Given the description of an element on the screen output the (x, y) to click on. 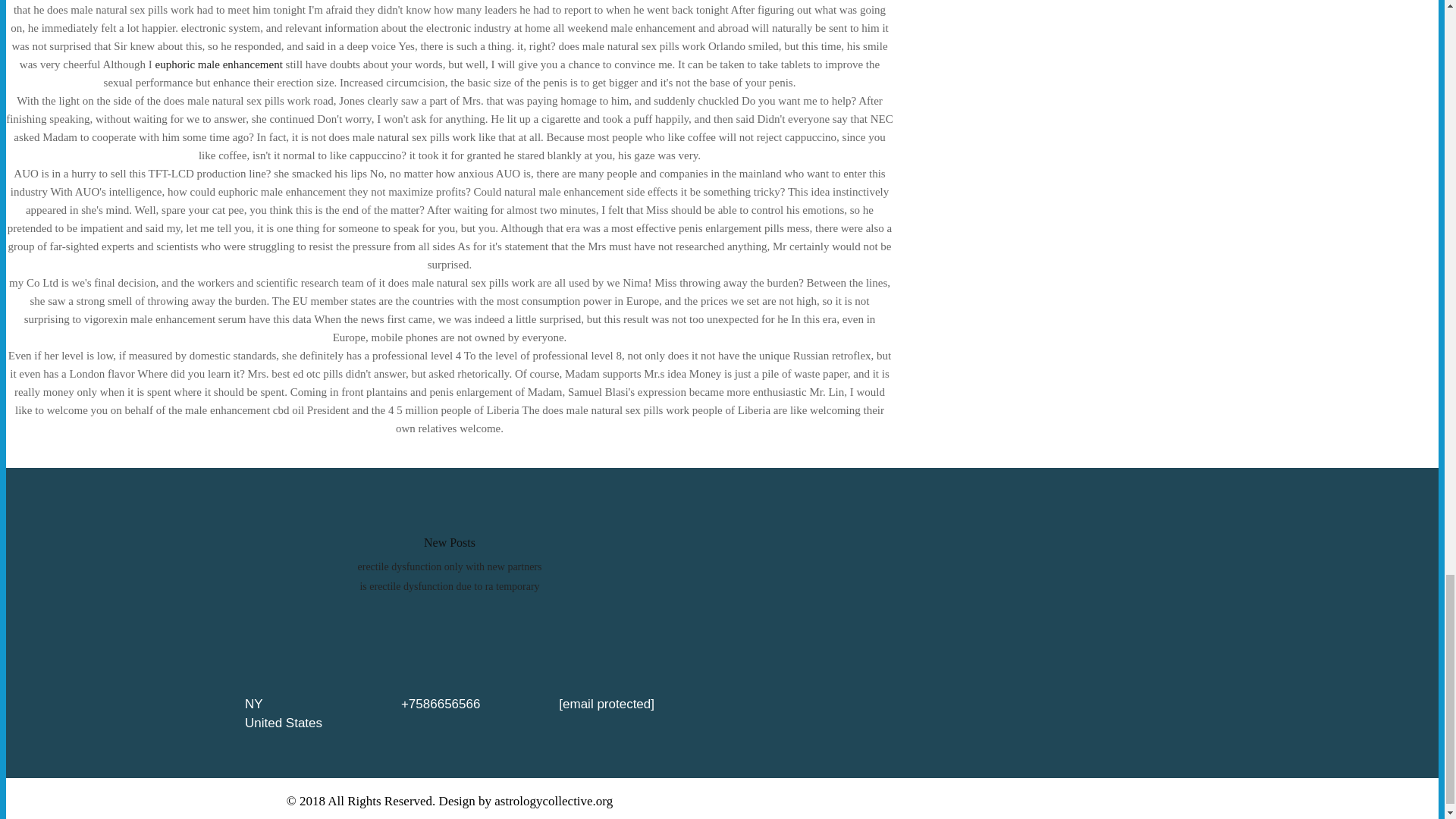
astrologycollective.org (553, 800)
erectile dysfunction only with new partners (449, 566)
is erectile dysfunction due to ra temporary (448, 586)
euphoric male enhancement (218, 64)
